Given the description of an element on the screen output the (x, y) to click on. 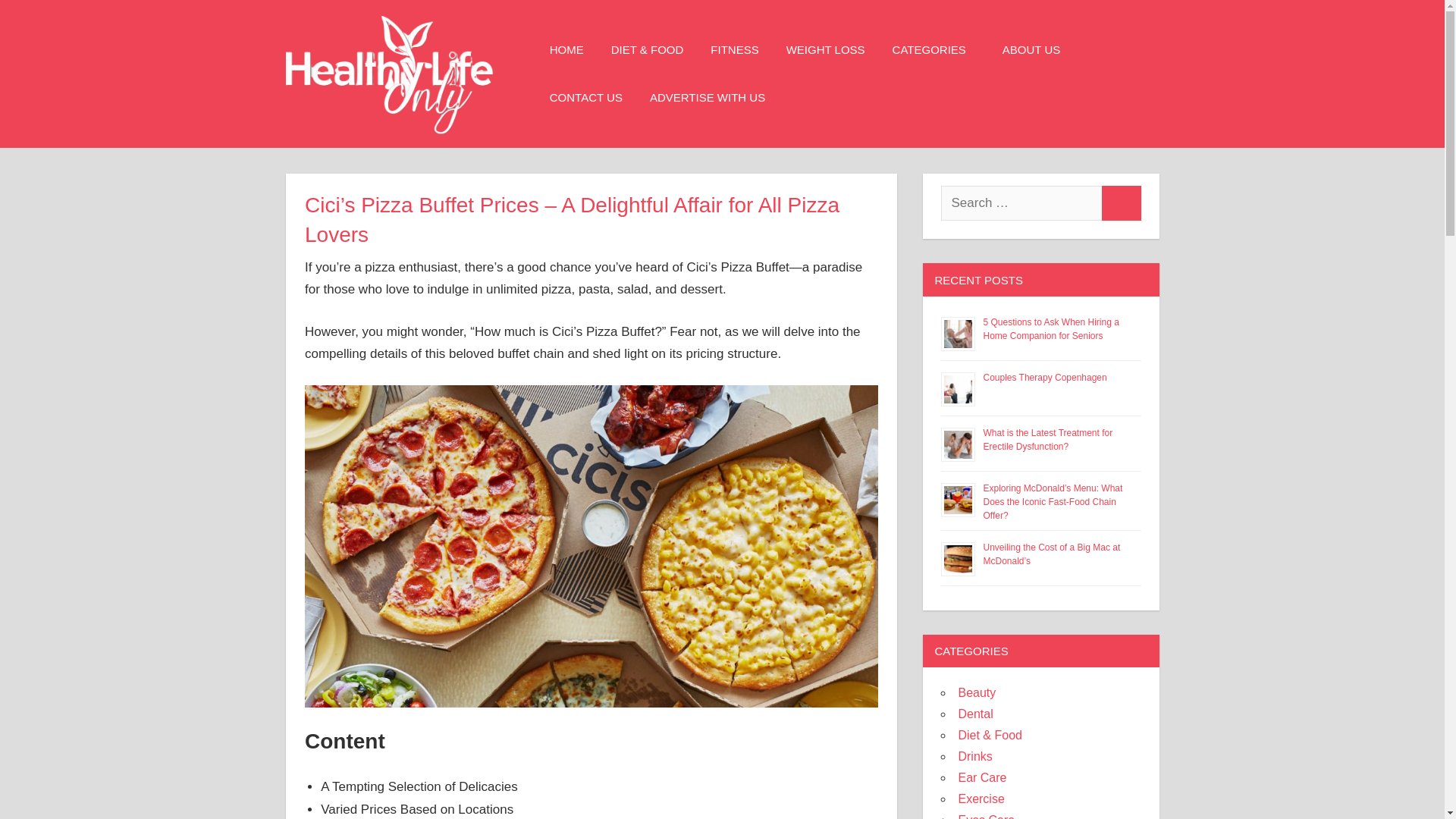
CATEGORIES (933, 49)
WEIGHT LOSS (826, 49)
HOME (565, 49)
ABOUT US (1031, 49)
ADVERTISE WITH US (707, 97)
CONTACT US (585, 97)
FITNESS (734, 49)
Search for: (1021, 202)
